Given the description of an element on the screen output the (x, y) to click on. 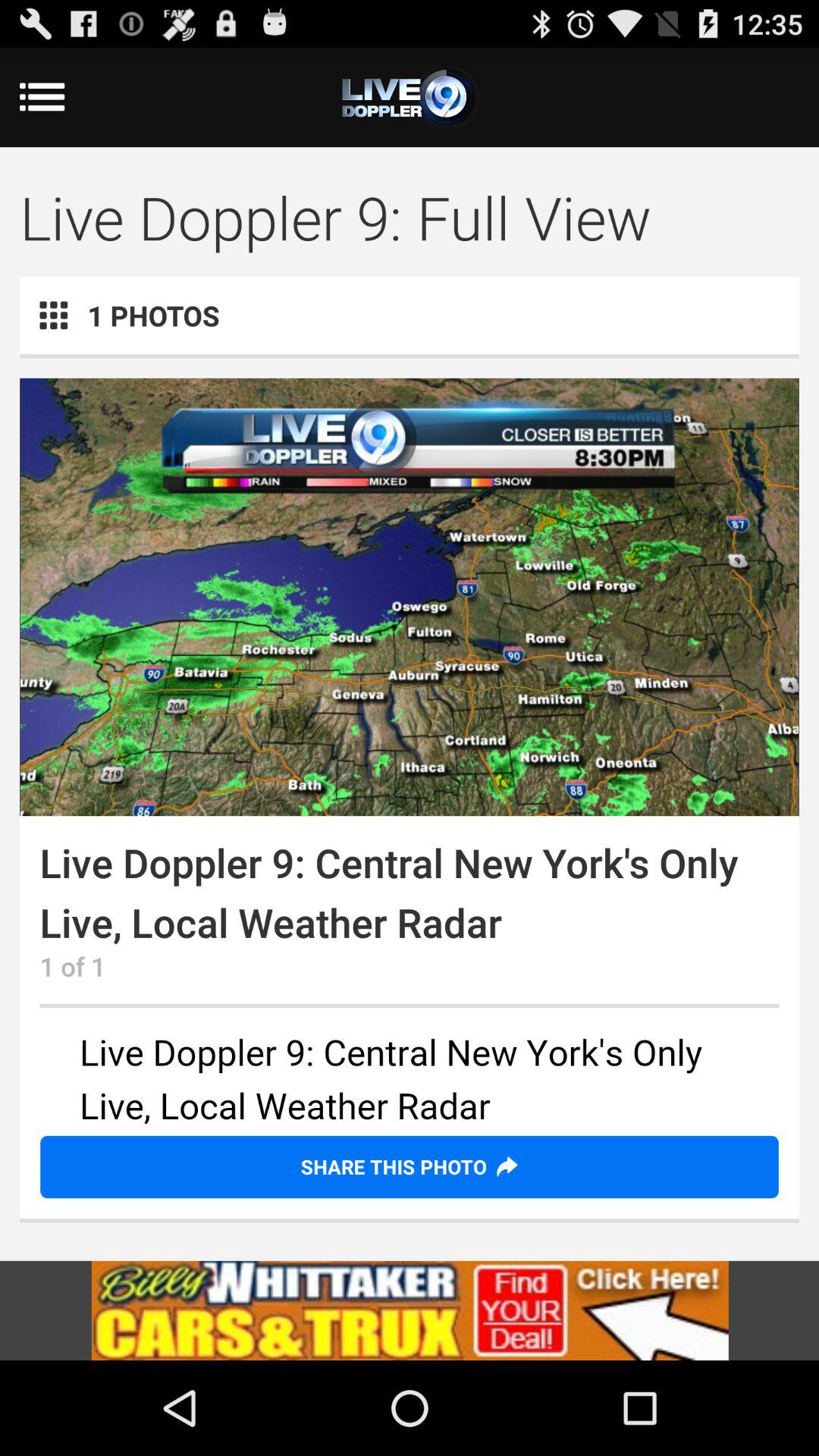
color print (409, 597)
